Given the description of an element on the screen output the (x, y) to click on. 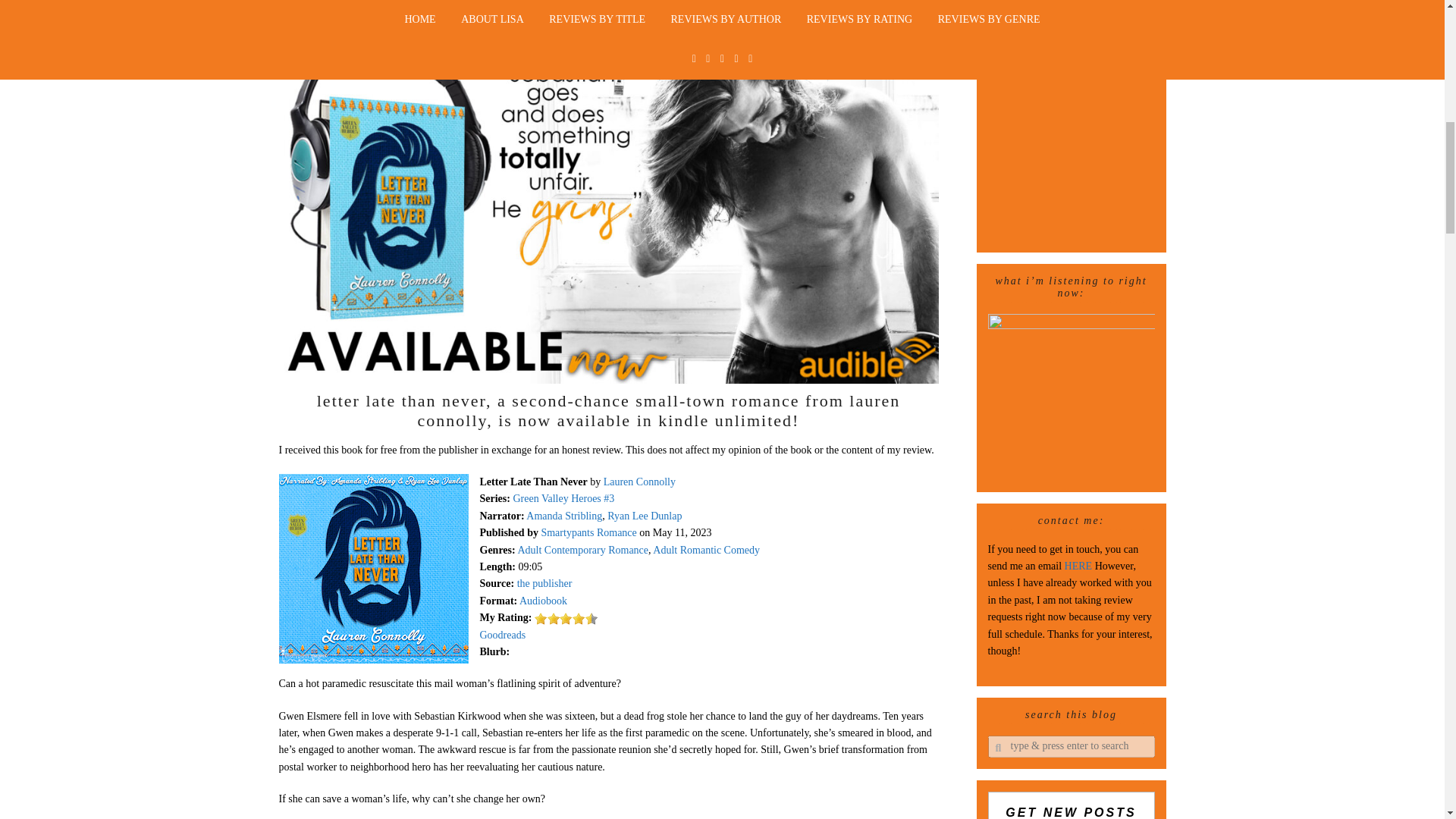
the publisher (544, 583)
5 COMMENTS (713, 3)
REVIEW (638, 3)
Amanda Stribling (563, 515)
Adult Contemporary Romance (581, 550)
Smartypants Romance (588, 532)
Lauren Connolly (639, 481)
Adult Romantic Comedy (706, 550)
LISA MANDINA (472, 3)
View all posts in Blog Tour (572, 3)
